Given the description of an element on the screen output the (x, y) to click on. 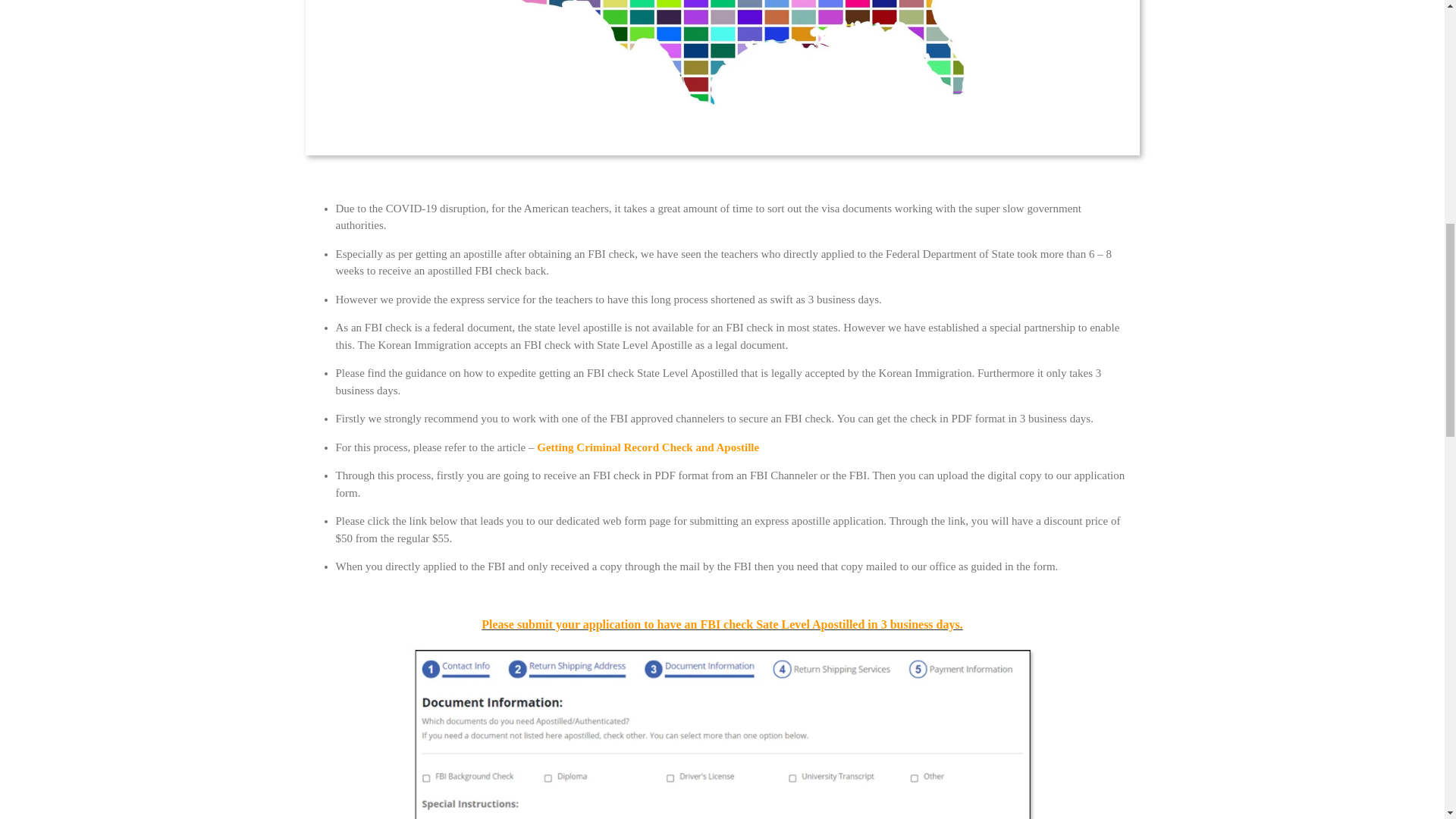
USA-States (721, 77)
Getting Criminal Record Check and Apostille (647, 447)
